Given the description of an element on the screen output the (x, y) to click on. 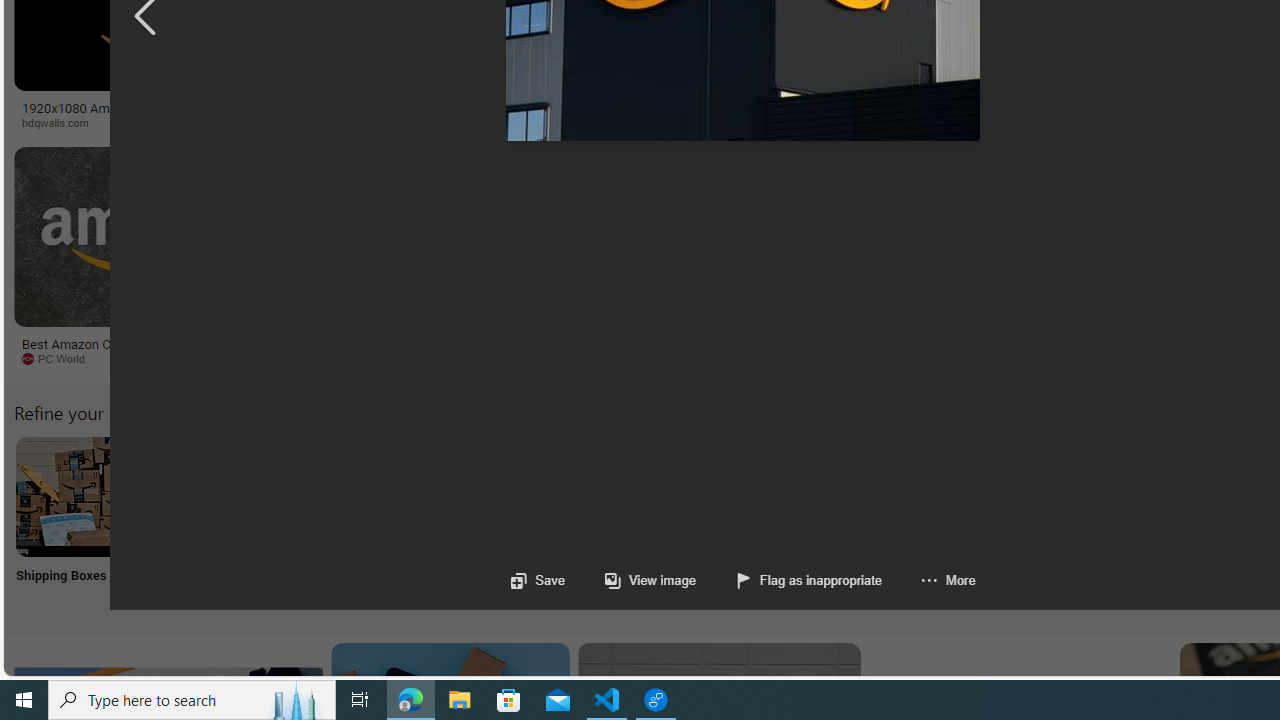
Shipping Boxes (74, 521)
Save (537, 580)
aiophotoz.com (666, 359)
View image (650, 580)
The Verge (335, 358)
Long Island Press (1105, 123)
GOBankingRates (396, 121)
Amazon Jobs Near Me Jobs Near Me (604, 521)
hdqwalls.com (61, 121)
More (948, 580)
Marketplace (700, 121)
Amazon Wish List Wish List (999, 521)
Save (537, 580)
